Given the description of an element on the screen output the (x, y) to click on. 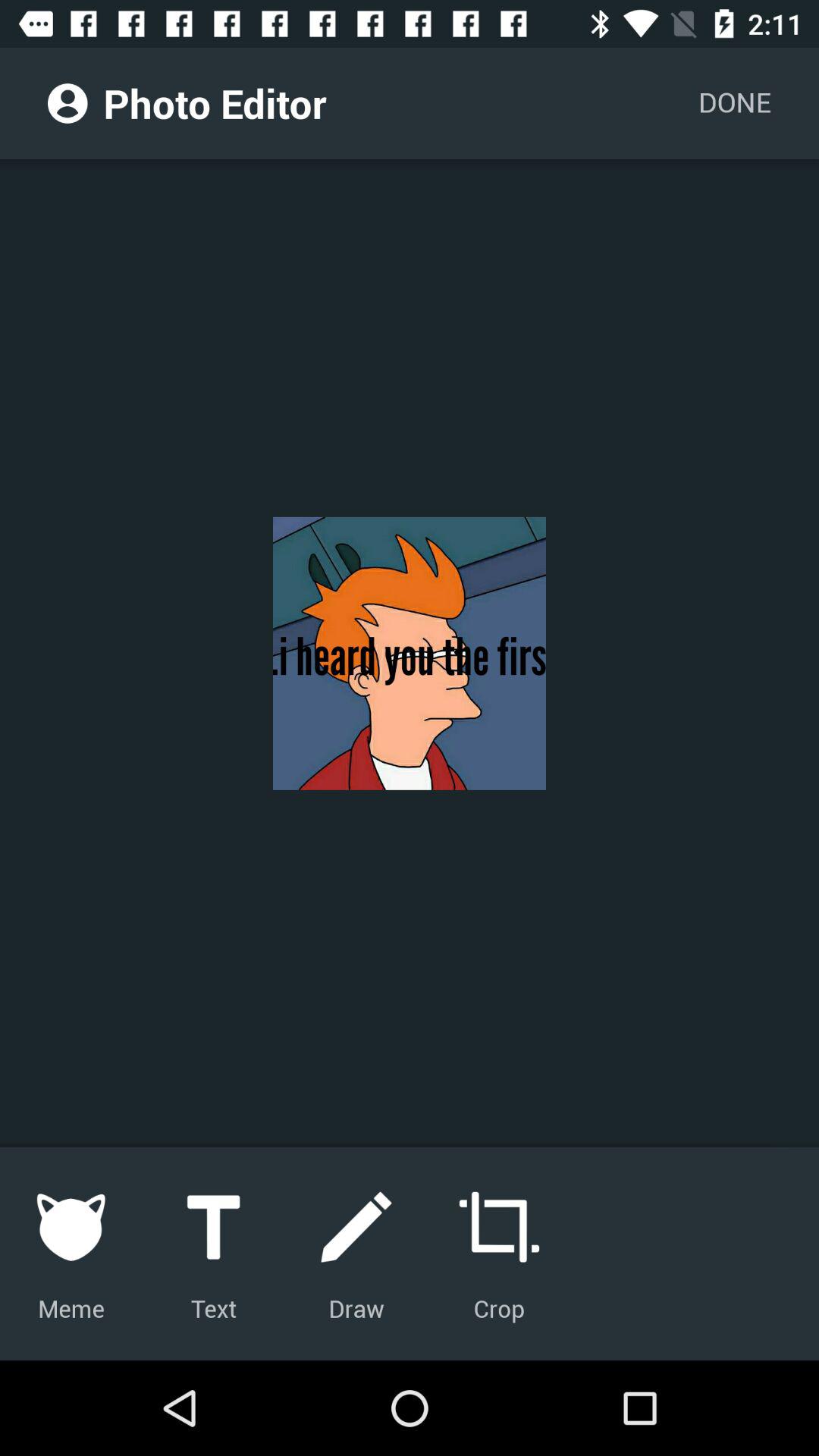
swipe until the done icon (734, 103)
